Given the description of an element on the screen output the (x, y) to click on. 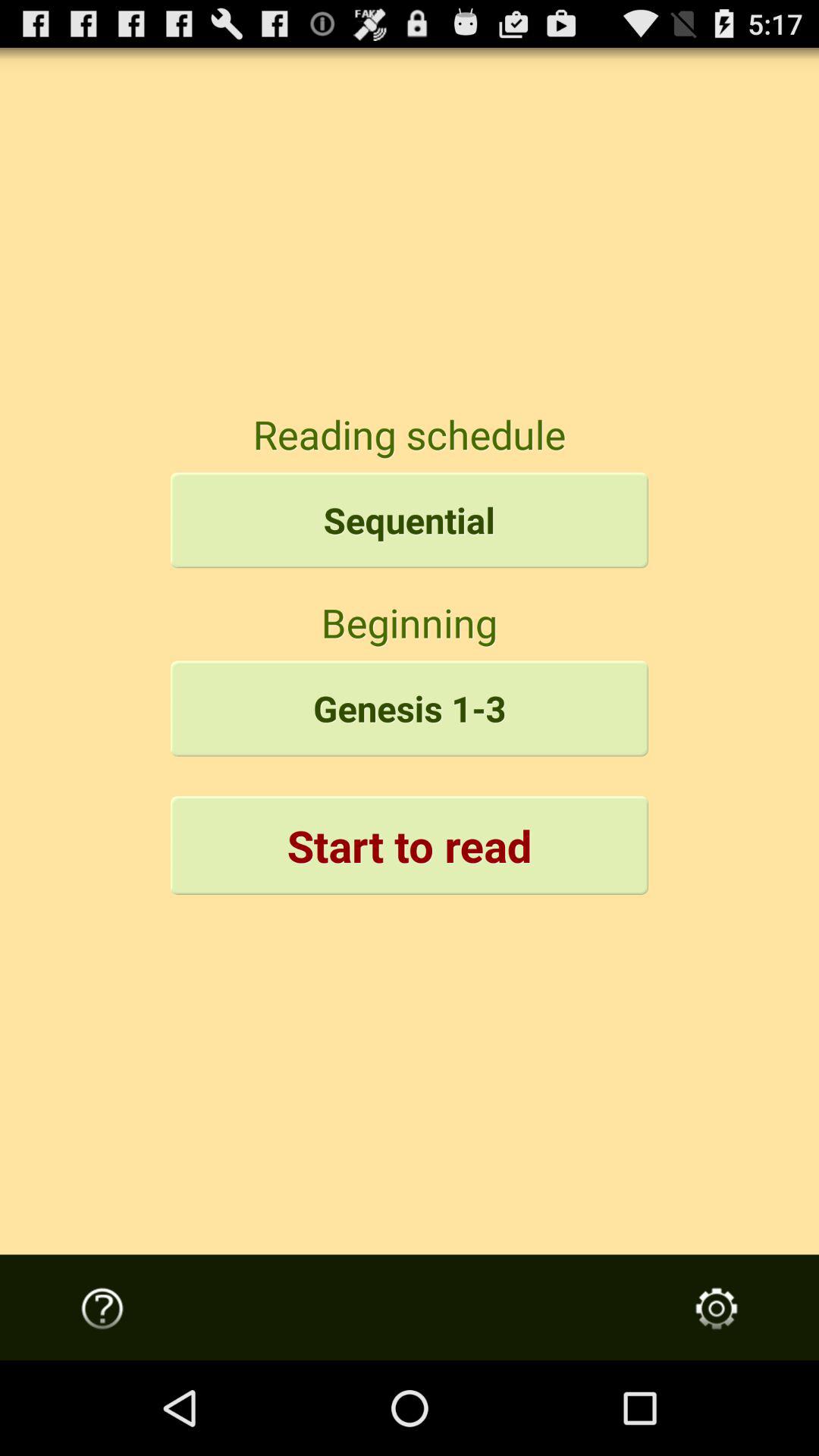
press the icon below the reading schedule item (409, 520)
